Given the description of an element on the screen output the (x, y) to click on. 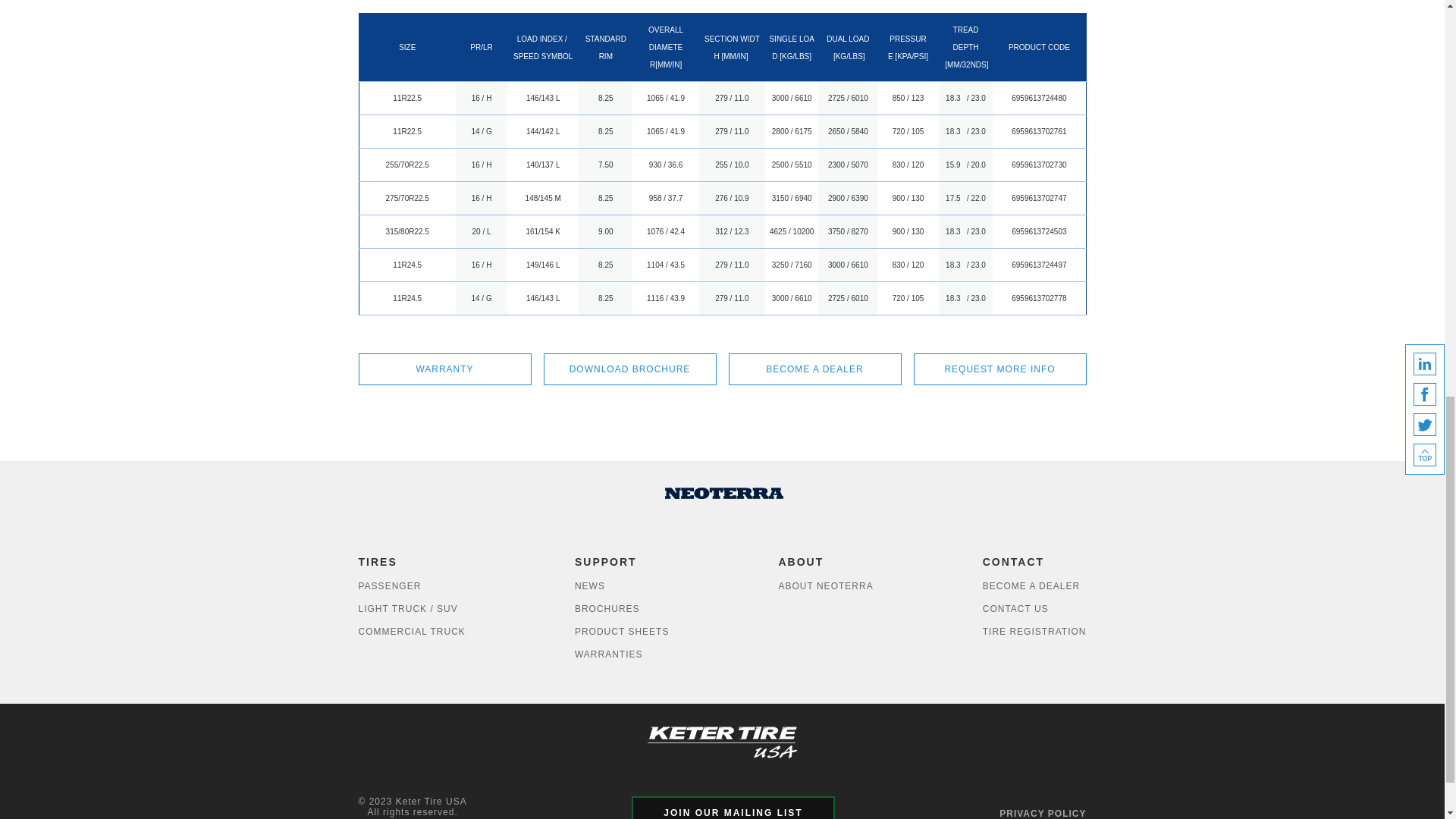
PASSENGER (411, 585)
WARRANTY (444, 368)
REQUEST MORE INFO (999, 368)
BROCHURES (621, 608)
DOWNLOAD BROCHURE (629, 368)
COMMERCIAL TRUCK (411, 630)
NEWS (621, 585)
BECOME A DEALER (814, 368)
